Given the description of an element on the screen output the (x, y) to click on. 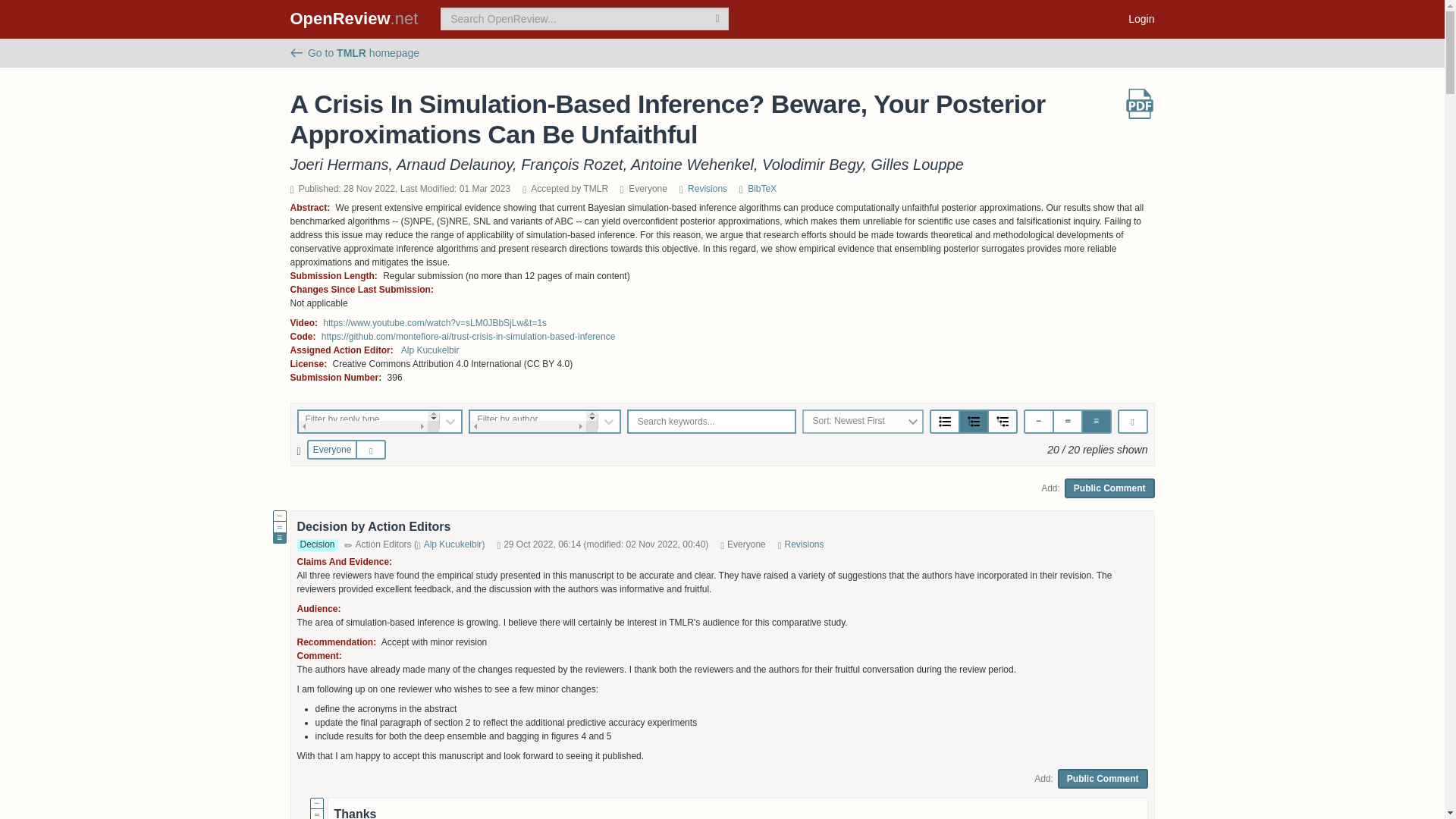
BibTeX (762, 188)
Arnaud Delaunoy (454, 164)
Alp Kucukelbir (452, 543)
Login (1141, 18)
Threaded (973, 421)
Visible to (299, 451)
Go to TMLR homepage (354, 52)
reset (373, 450)
Venue Homepage (354, 52)
Gilles Louppe (916, 164)
Nested discussion layout (1002, 421)
Public Comment (1109, 487)
Revisions (706, 188)
Volodimir Begy (811, 164)
Partially expand content (1066, 420)
